Given the description of an element on the screen output the (x, y) to click on. 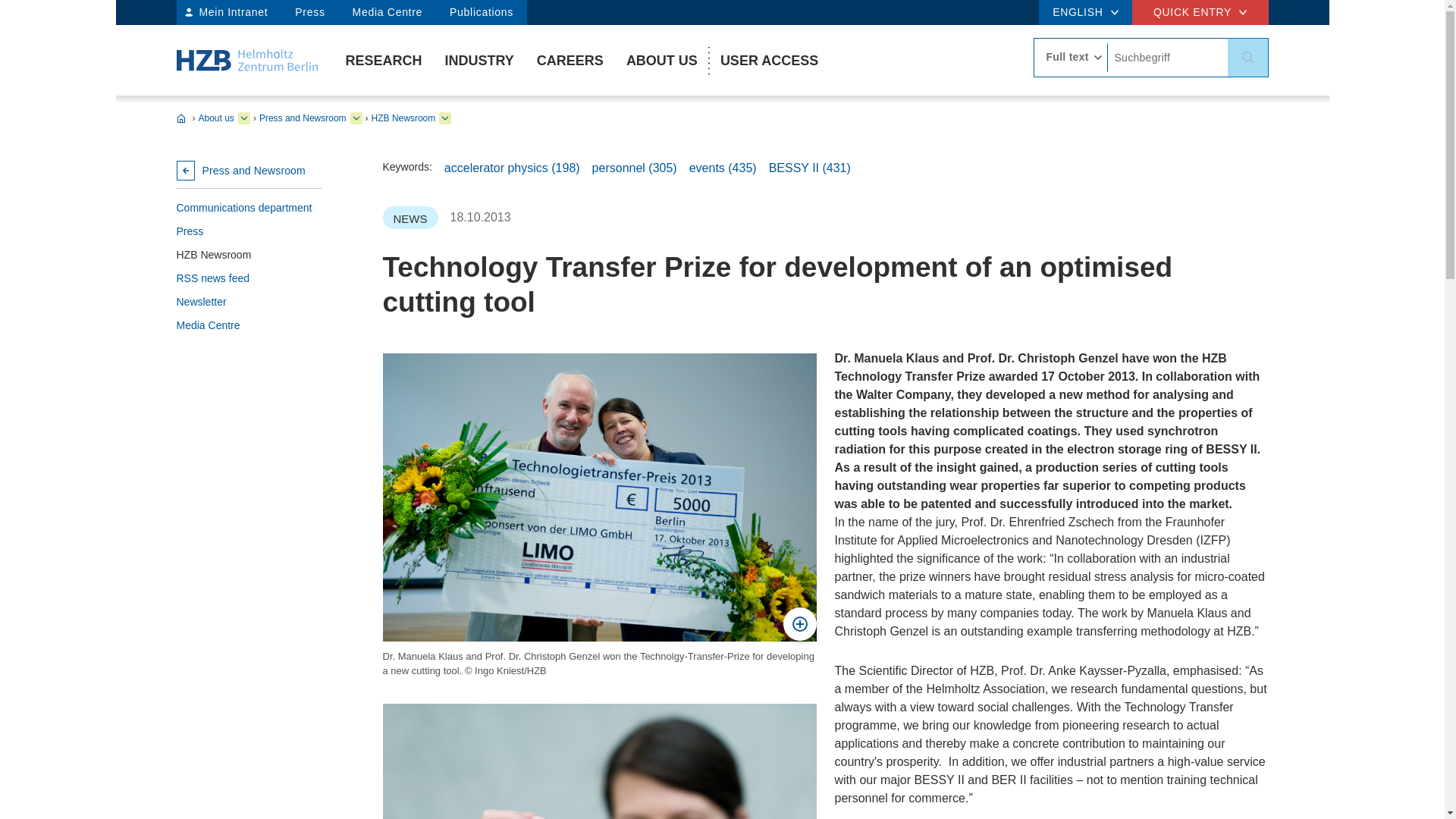
QUICK ENTRY (1199, 12)
Media Centre (387, 12)
Publications (481, 12)
Press (248, 231)
Press and Newsroom (248, 170)
Home (246, 60)
Newsletter (248, 301)
Communications department (248, 208)
RSS news feed (248, 278)
Press (309, 12)
